Given the description of an element on the screen output the (x, y) to click on. 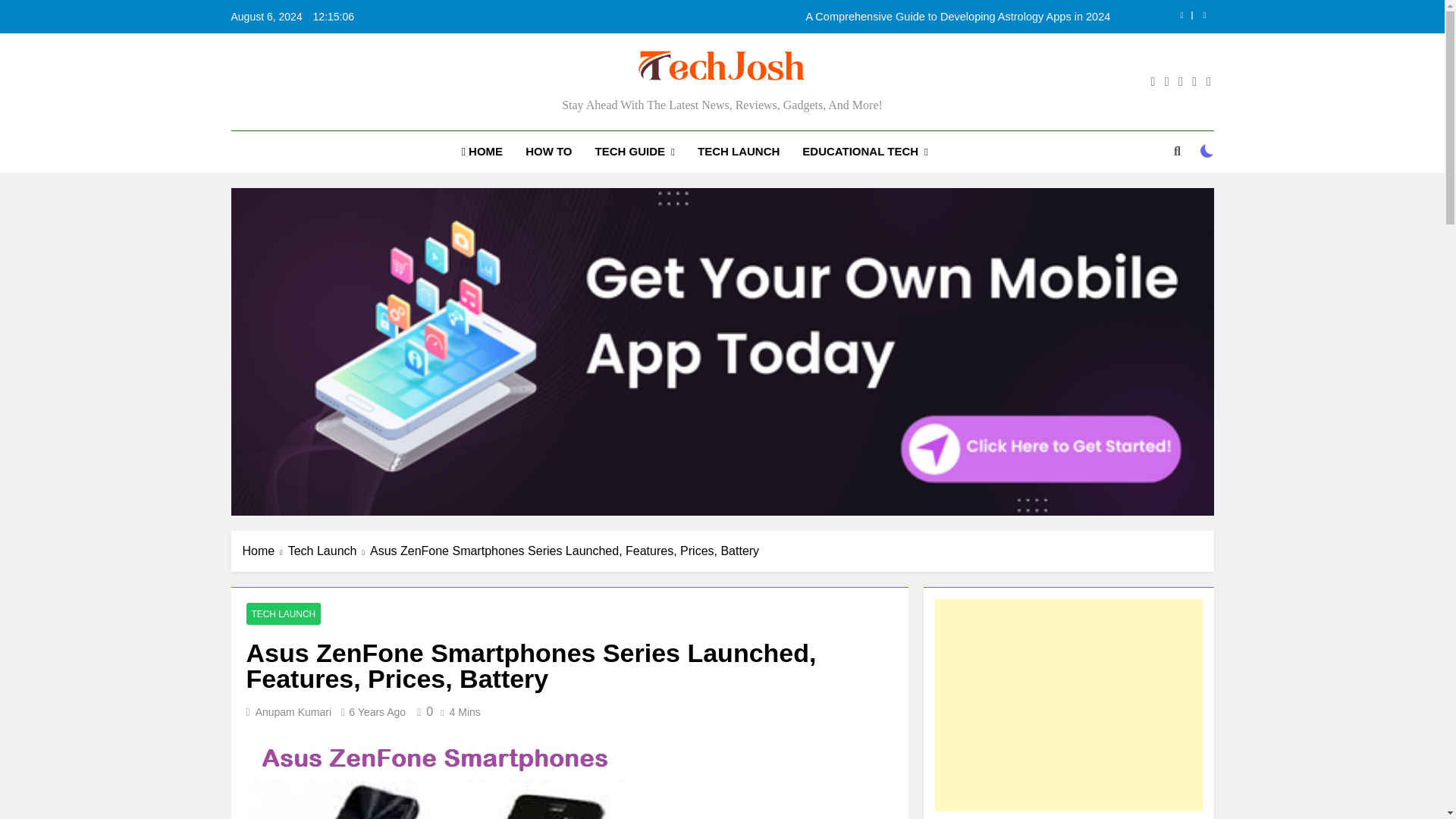
A Comprehensive Guide to Developing Astrology Apps in 2024 (817, 16)
TECH LAUNCH (737, 151)
TECH GUIDE (634, 151)
TechJosh (547, 105)
Tech Launch (328, 551)
HOW TO (548, 151)
HOME (481, 151)
on (1206, 151)
Home (265, 551)
Advertisement (1068, 704)
EDUCATIONAL TECH (864, 151)
A Comprehensive Guide to Developing Astrology Apps in 2024 (817, 16)
